Given the description of an element on the screen output the (x, y) to click on. 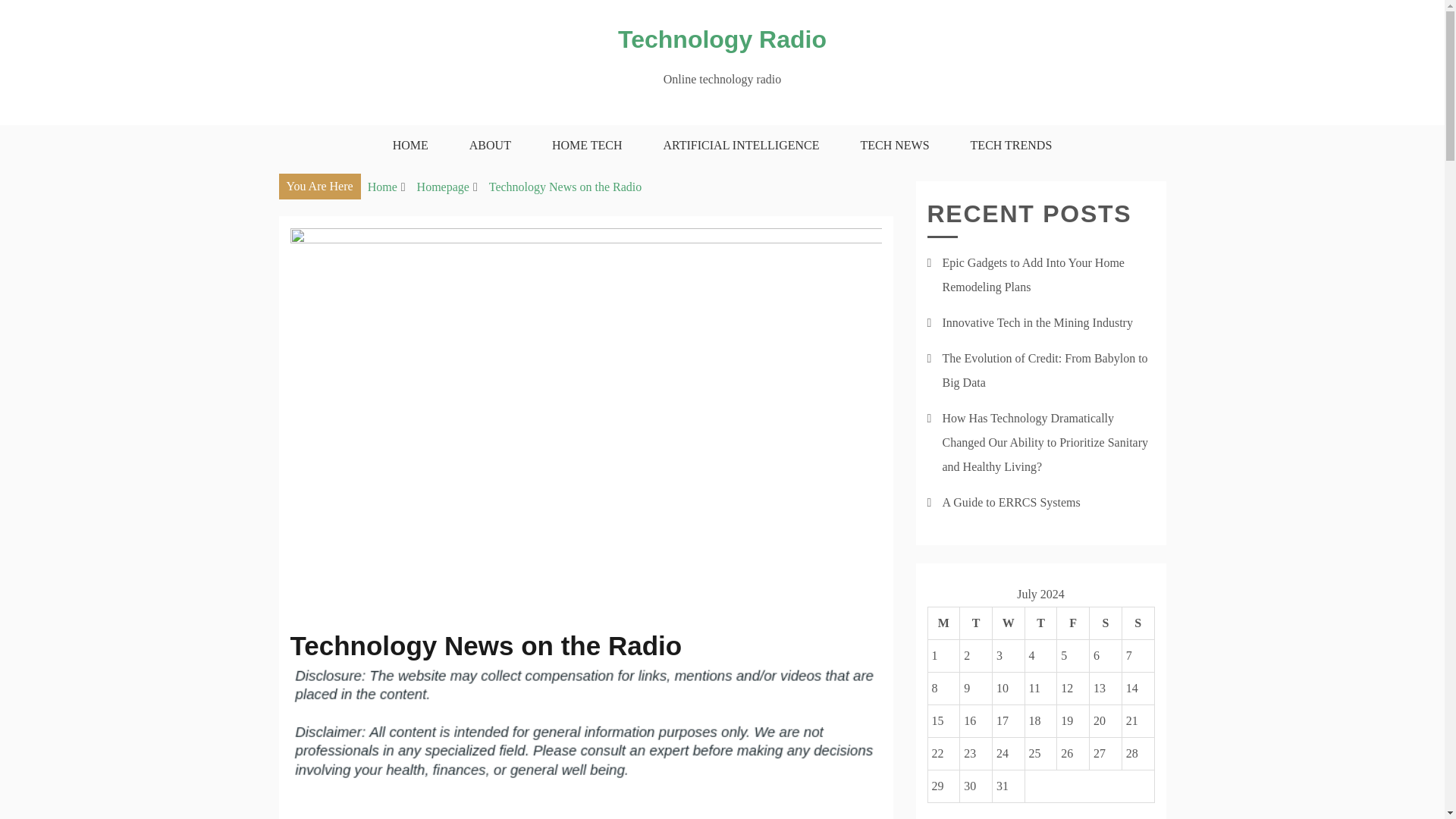
Technology Radio (722, 39)
TECH NEWS (894, 145)
Technology News on the Radio (565, 186)
ABOUT (490, 145)
The Evolution of Credit: From Babylon to Big Data (1044, 370)
ARTIFICIAL INTELLIGENCE (741, 145)
Innovative Tech in the Mining Industry (1037, 322)
Homepage (442, 186)
Sunday (1137, 622)
HOME TECH (586, 145)
Wednesday (1008, 622)
TECH TRENDS (1011, 145)
HOME (410, 145)
Home (382, 186)
